Given the description of an element on the screen output the (x, y) to click on. 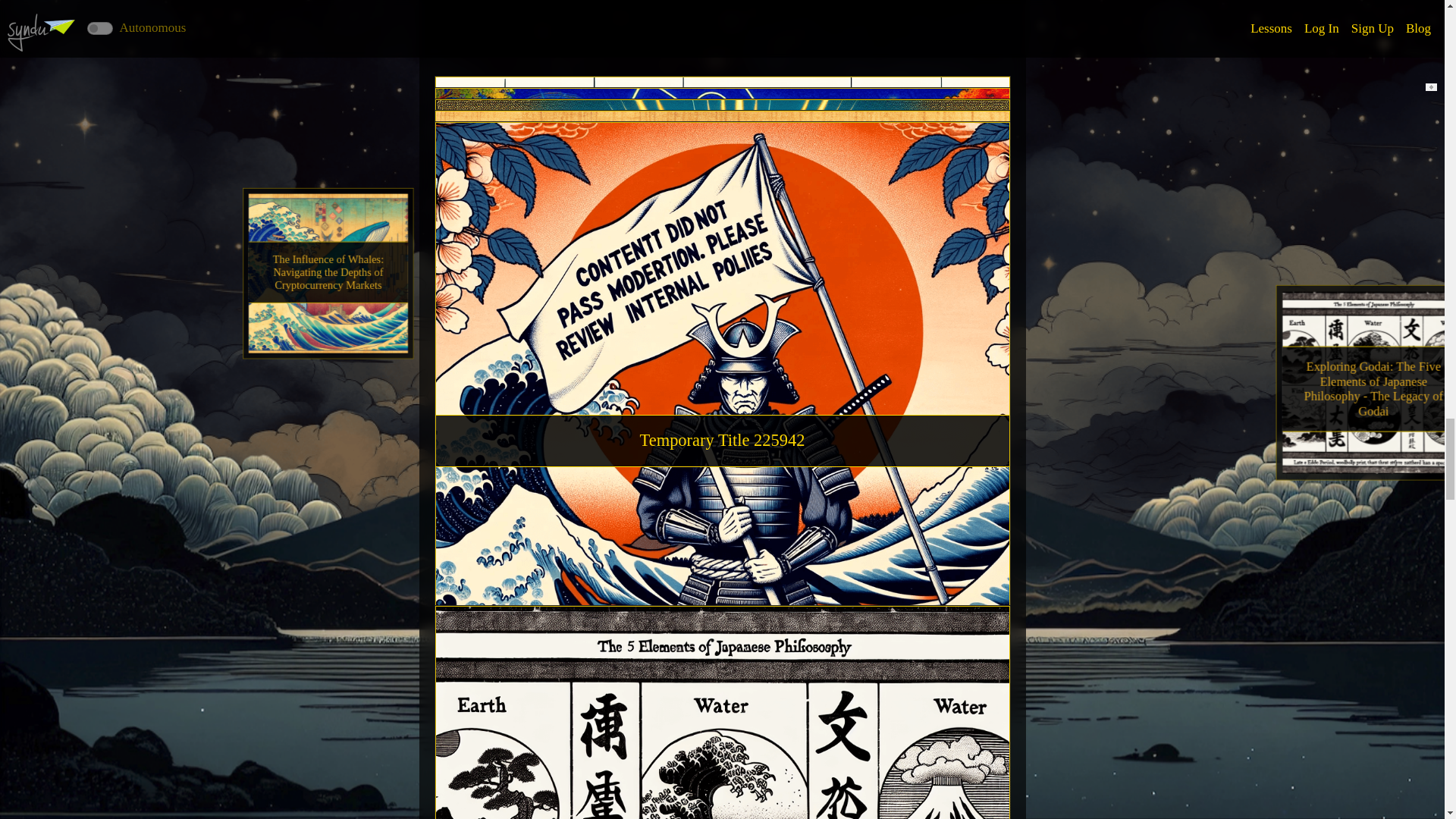
Temporary Title 225942 (722, 318)
